Given the description of an element on the screen output the (x, y) to click on. 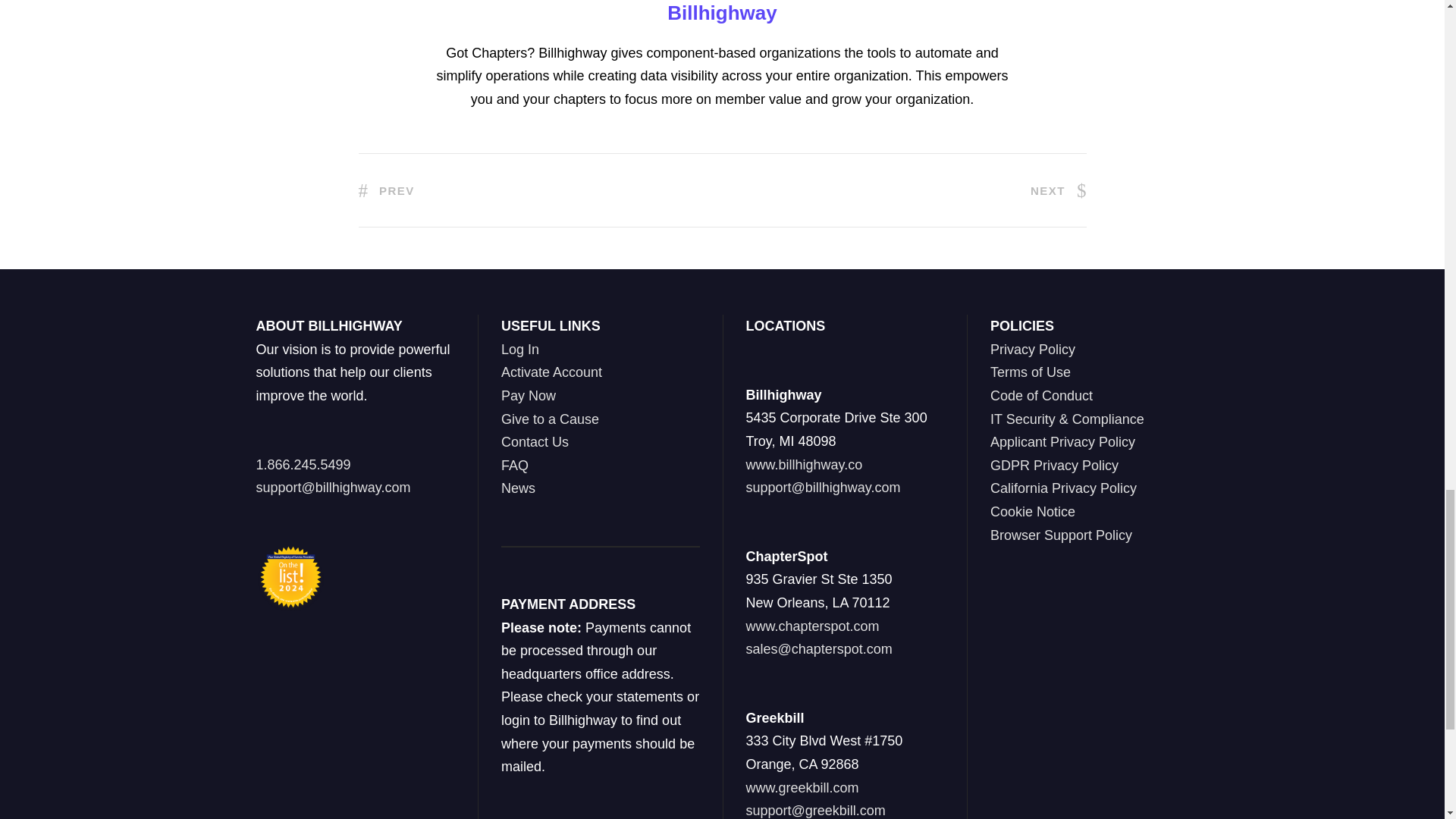
Posts by Billhighway (721, 12)
